Given the description of an element on the screen output the (x, y) to click on. 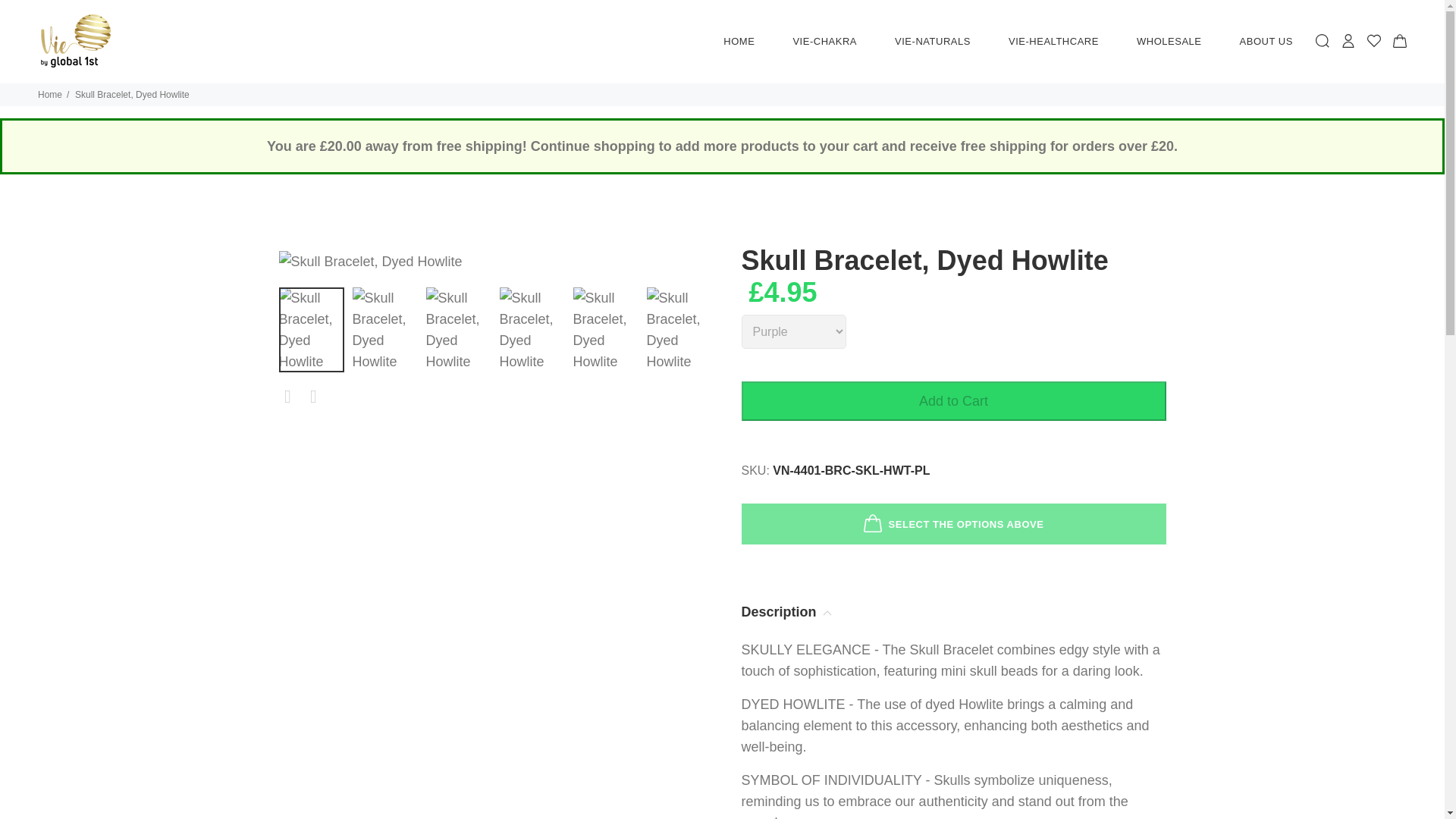
VIE-NATURALS (933, 41)
VIE-HEALTHCARE (1054, 41)
VIE-CHAKRA (824, 41)
WHOLESALE (1169, 41)
Add to Cart (953, 400)
ABOUT US (1256, 41)
